Given the description of an element on the screen output the (x, y) to click on. 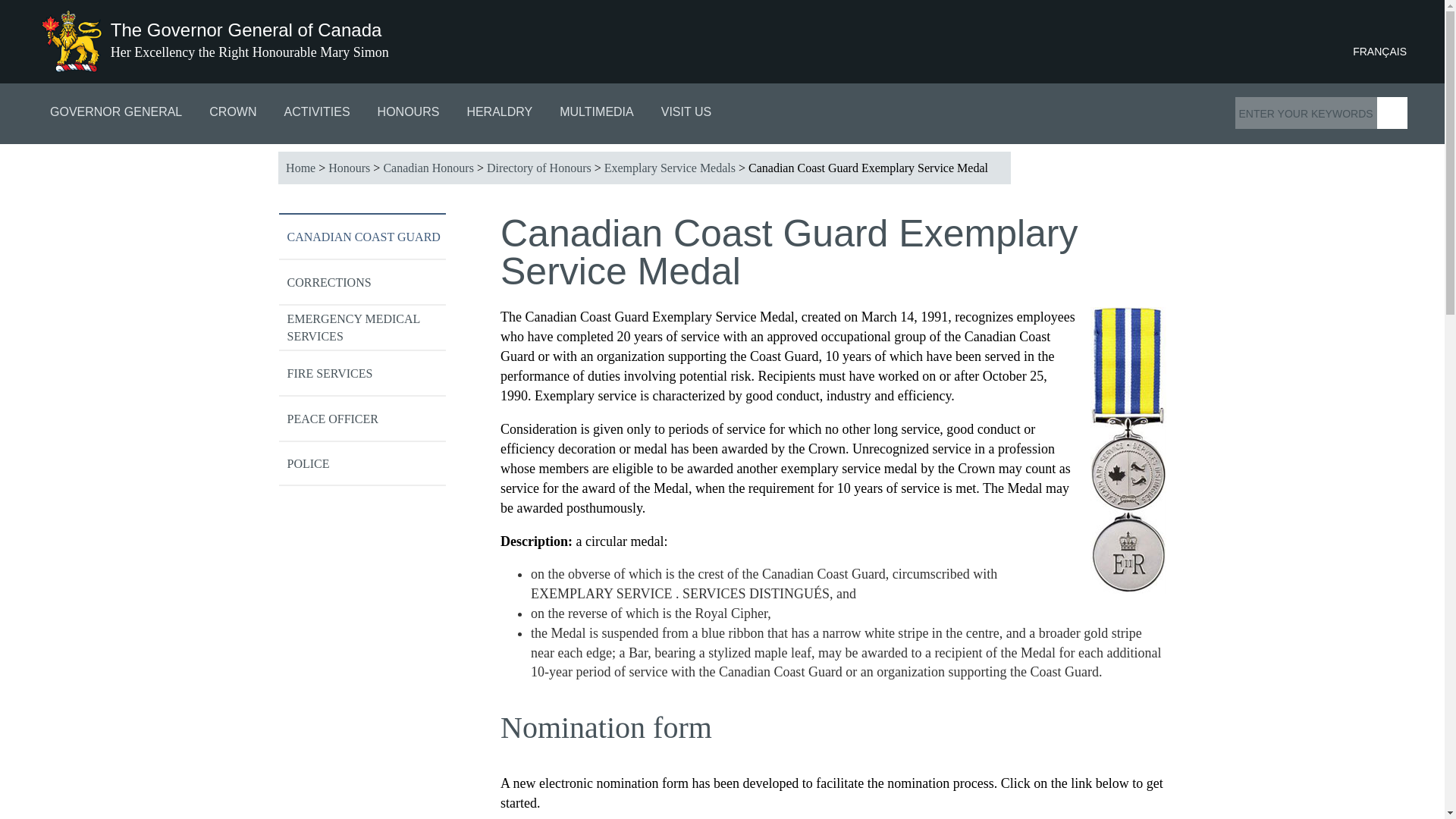
CROWN (232, 113)
Facebook (1221, 52)
Youtube (1303, 52)
ACTIVITIES (316, 113)
Search (1392, 112)
Home page (245, 29)
The Governor General of Canada (245, 29)
HONOURS (407, 113)
GOVERNOR GENERAL (115, 113)
Twitter (1249, 52)
Instagram (1275, 52)
